Given the description of an element on the screen output the (x, y) to click on. 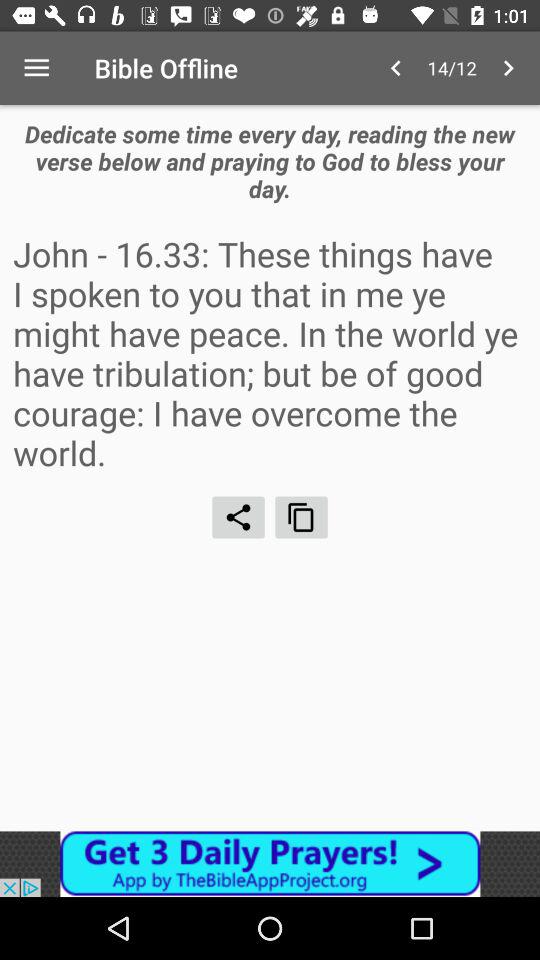
share the bible quotes (238, 517)
